Given the description of an element on the screen output the (x, y) to click on. 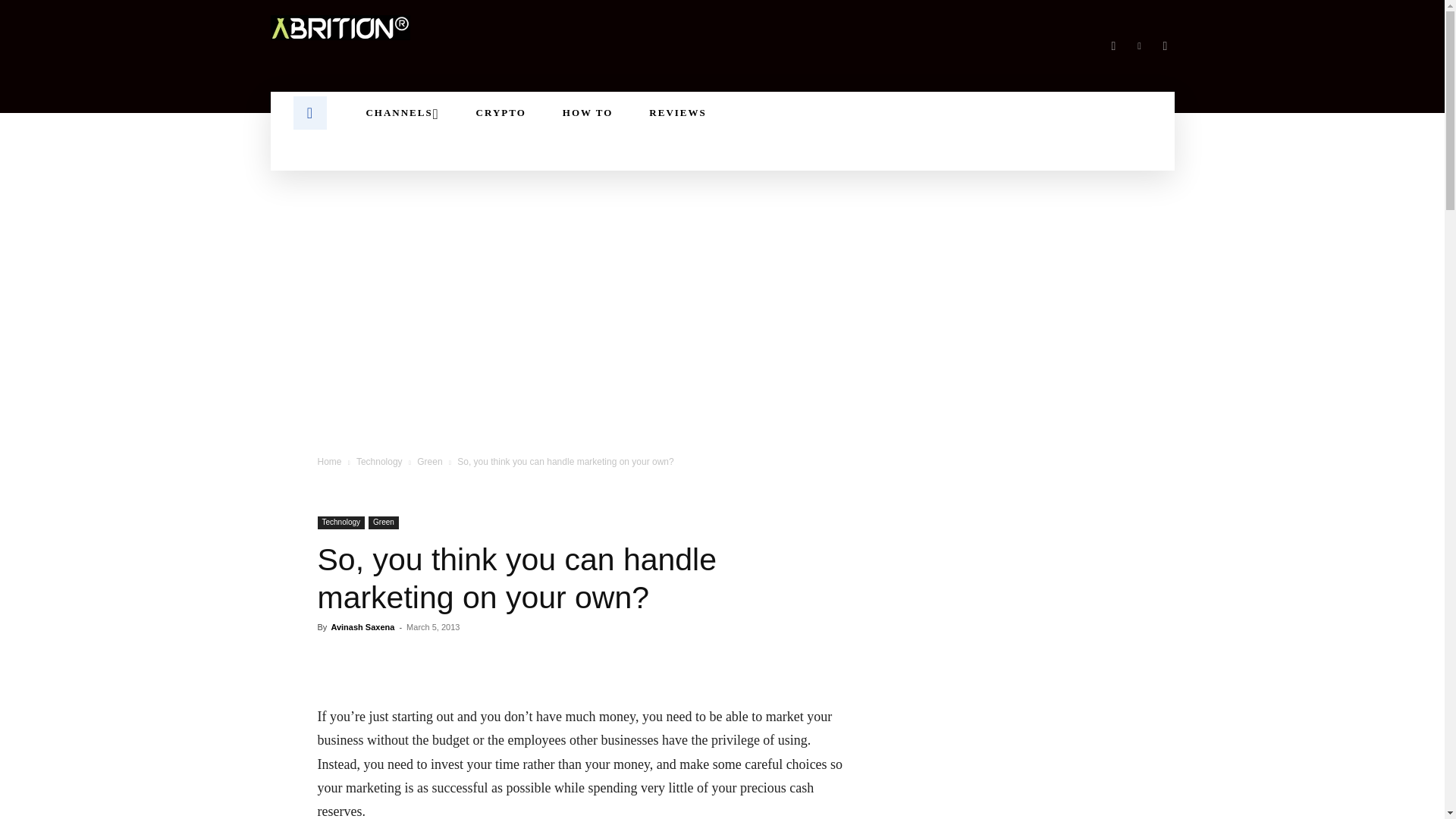
Twitter (1164, 45)
View all posts in Green (429, 461)
Pinterest (1138, 45)
View all posts in Technology (379, 461)
Facebook (1112, 45)
